Given the description of an element on the screen output the (x, y) to click on. 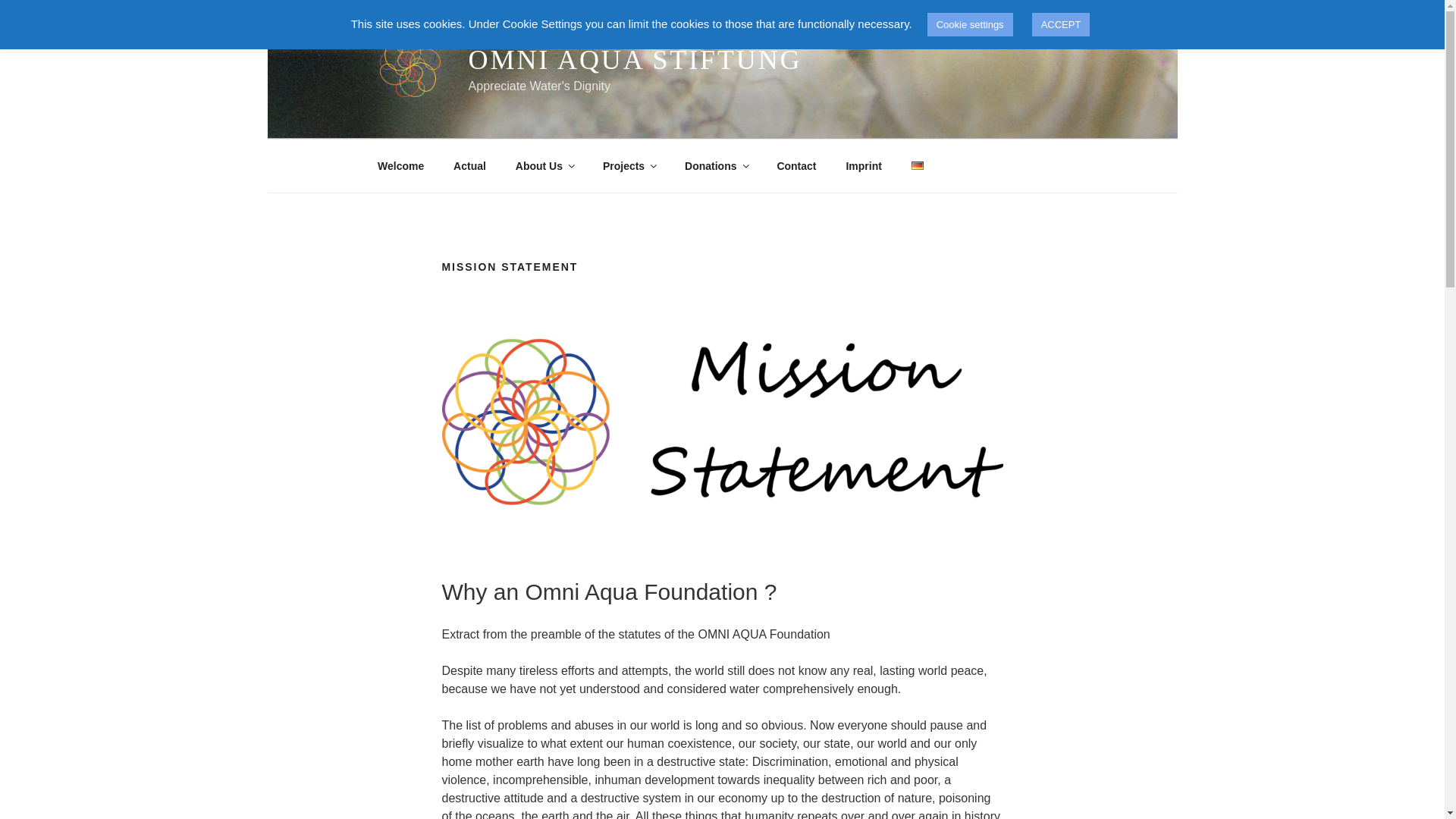
Donations (715, 165)
Cookie settings (970, 24)
Welcome (400, 165)
OMNI AQUA STIFTUNG (635, 60)
Projects (628, 165)
Actual (470, 165)
Contact (795, 165)
About Us (544, 165)
ACCEPT (1061, 24)
Imprint (863, 165)
